Given the description of an element on the screen output the (x, y) to click on. 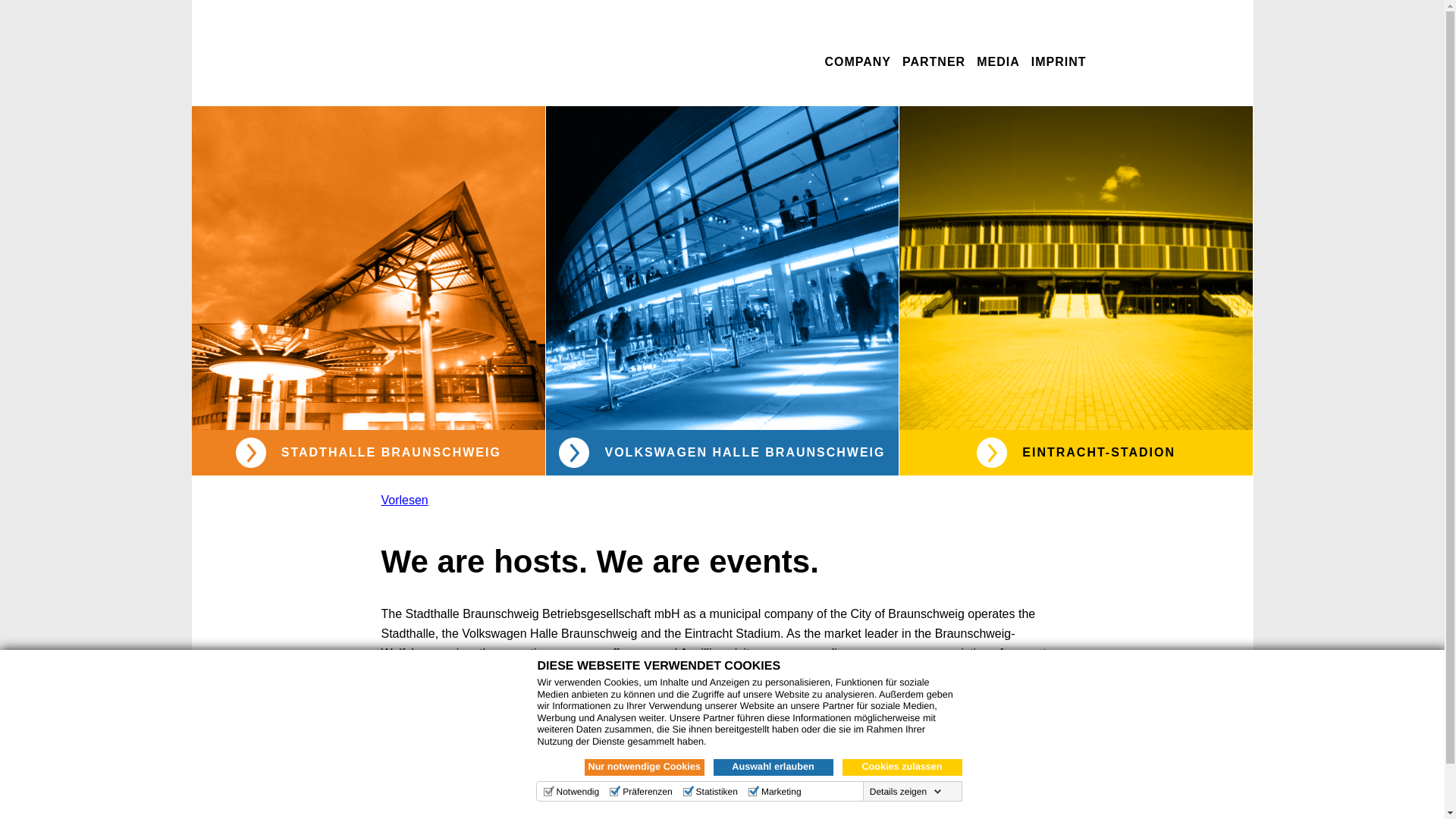
Cookies zulassen (900, 767)
Auswahl erlauben (772, 767)
Details zeigen (905, 791)
COMPANY (857, 62)
Nur notwendige Cookies (643, 767)
